Given the description of an element on the screen output the (x, y) to click on. 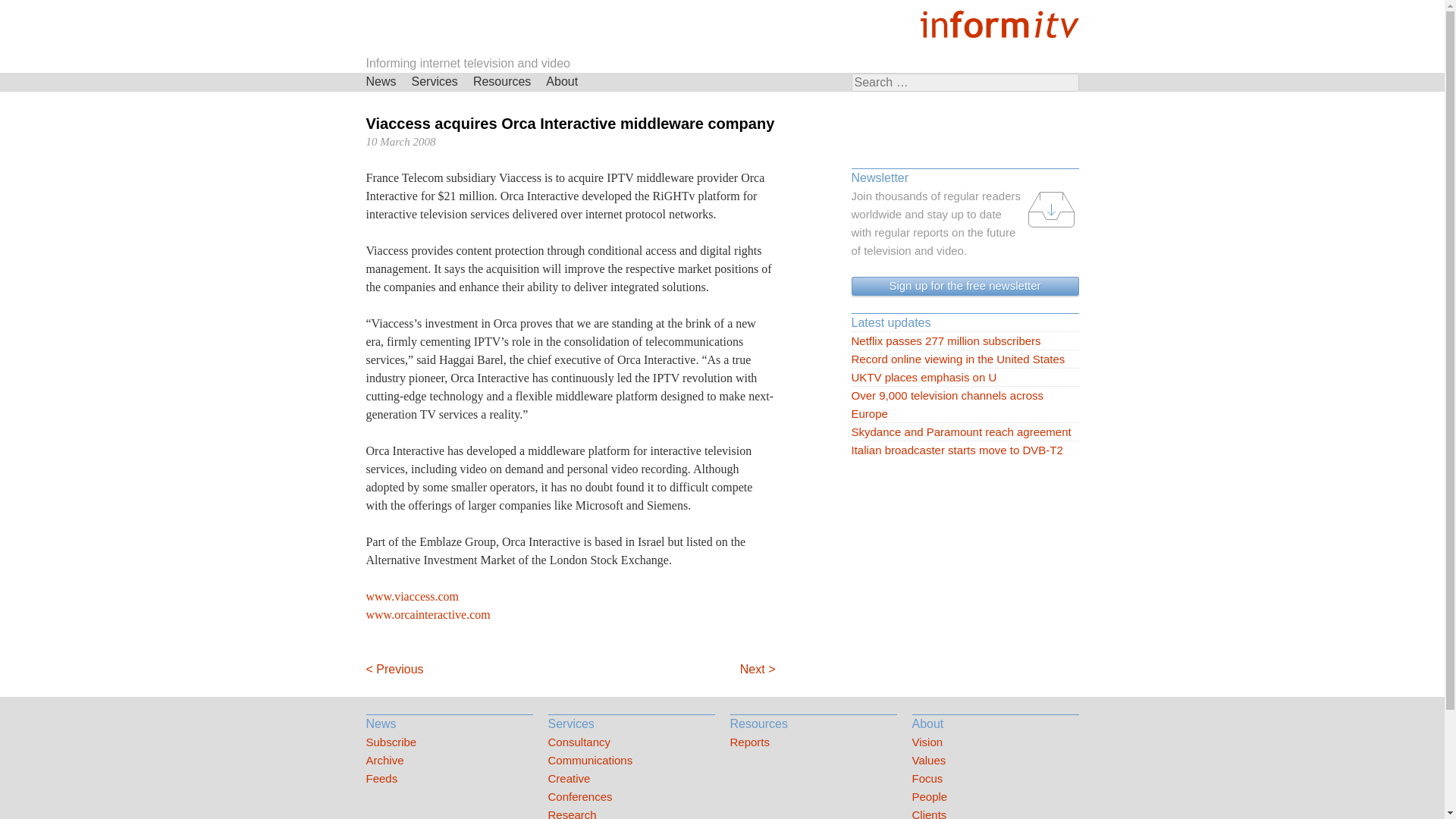
Skydance and Paramount reach agreement (964, 432)
www.orcainteractive.com (427, 614)
Netflix passes 277 million subscribers (964, 341)
Italian broadcaster starts move to DVB-T2 (964, 450)
www.viaccess.com (411, 595)
Resources (501, 81)
Viaccess web site (411, 595)
Feeds (448, 778)
Get the newsletter (964, 285)
Record online viewing in the United States (964, 359)
Services (434, 81)
Archive (448, 760)
UKTV places emphasis on U (964, 377)
Subscribe (448, 742)
